Given the description of an element on the screen output the (x, y) to click on. 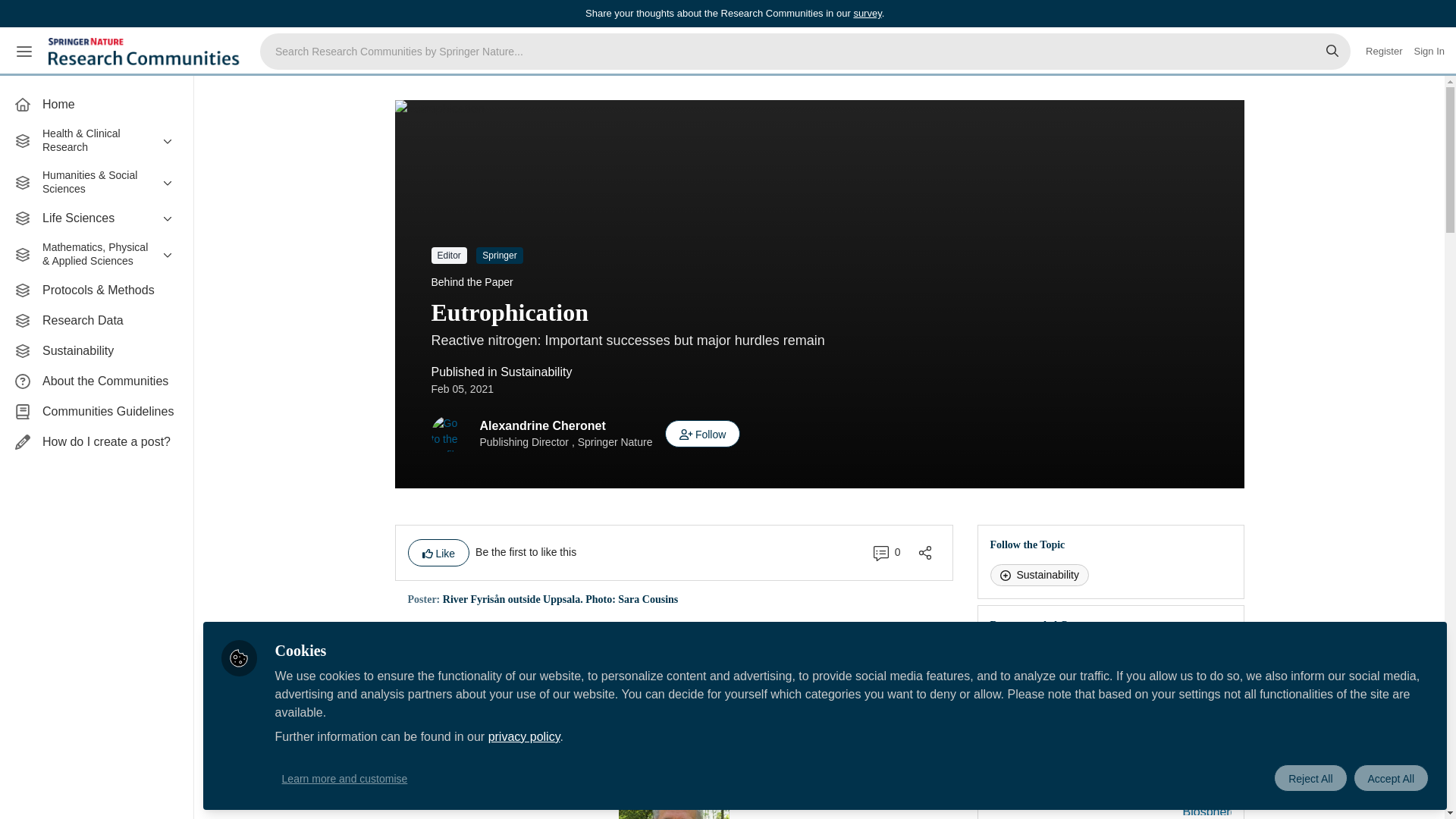
Life Sciences (96, 217)
Search (1332, 51)
survey (866, 12)
Life Sciences (96, 217)
Home (96, 103)
Home (96, 103)
Menu (24, 51)
Research Communities by Springer Nature (146, 51)
